Given the description of an element on the screen output the (x, y) to click on. 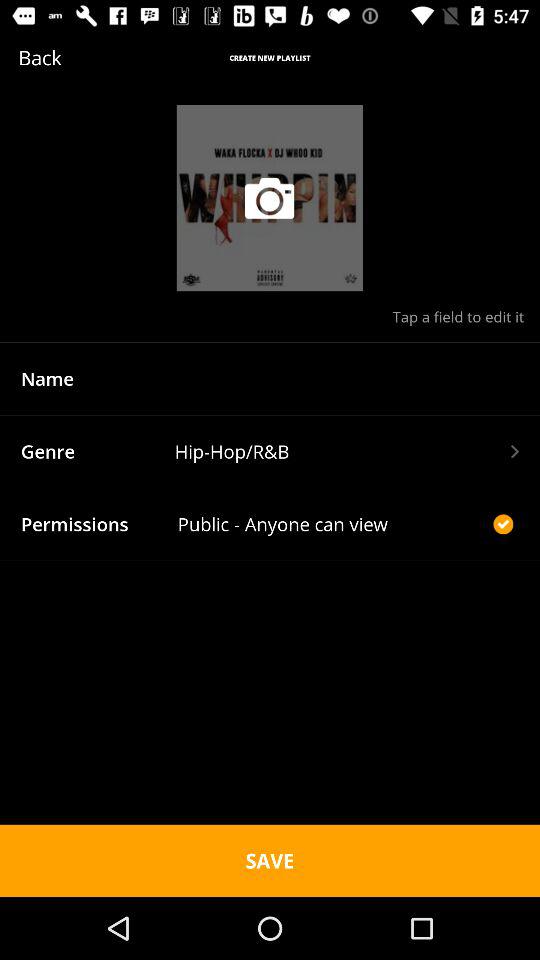
tap the icon next to create new playlist (70, 57)
